Given the description of an element on the screen output the (x, y) to click on. 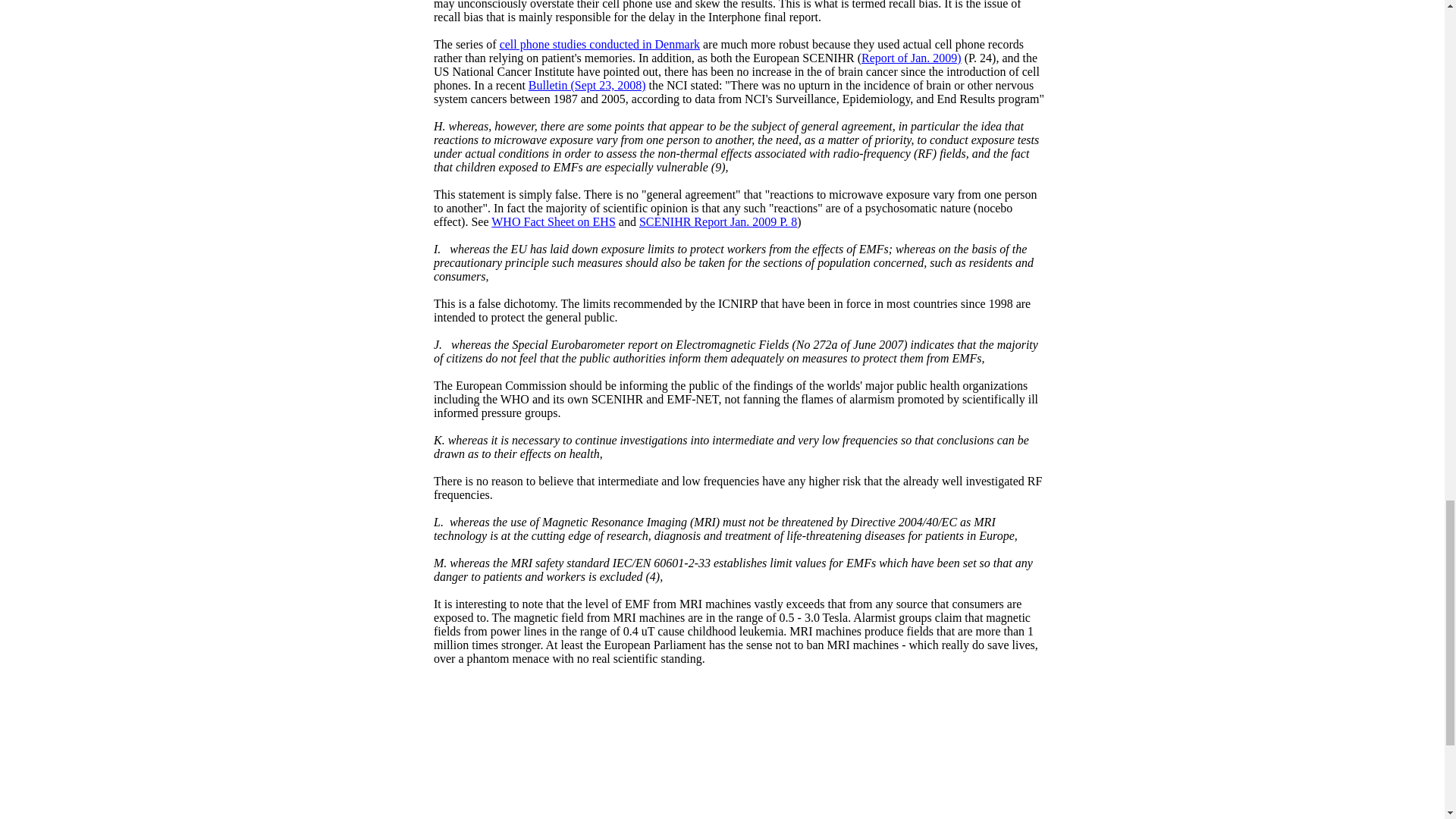
cell phone studies conducted in Denmark (599, 43)
WHO Fact Sheet on EHS (553, 221)
SCENIHR Report Jan. 2009 P. 8 (717, 221)
